Given the description of an element on the screen output the (x, y) to click on. 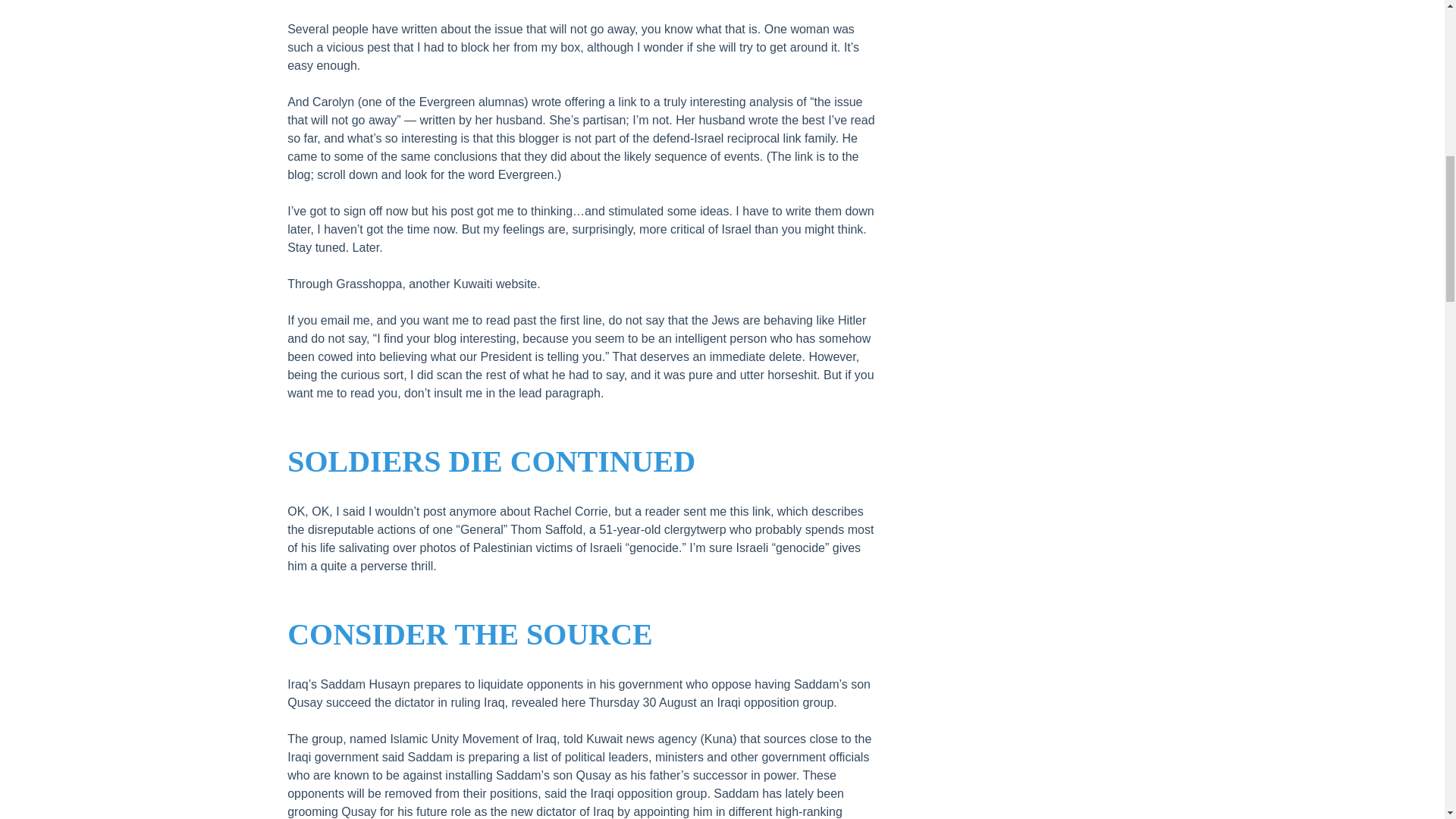
SOLDIERS DIE CONTINUED (490, 461)
CONSIDER THE SOURCE (469, 634)
